Given the description of an element on the screen output the (x, y) to click on. 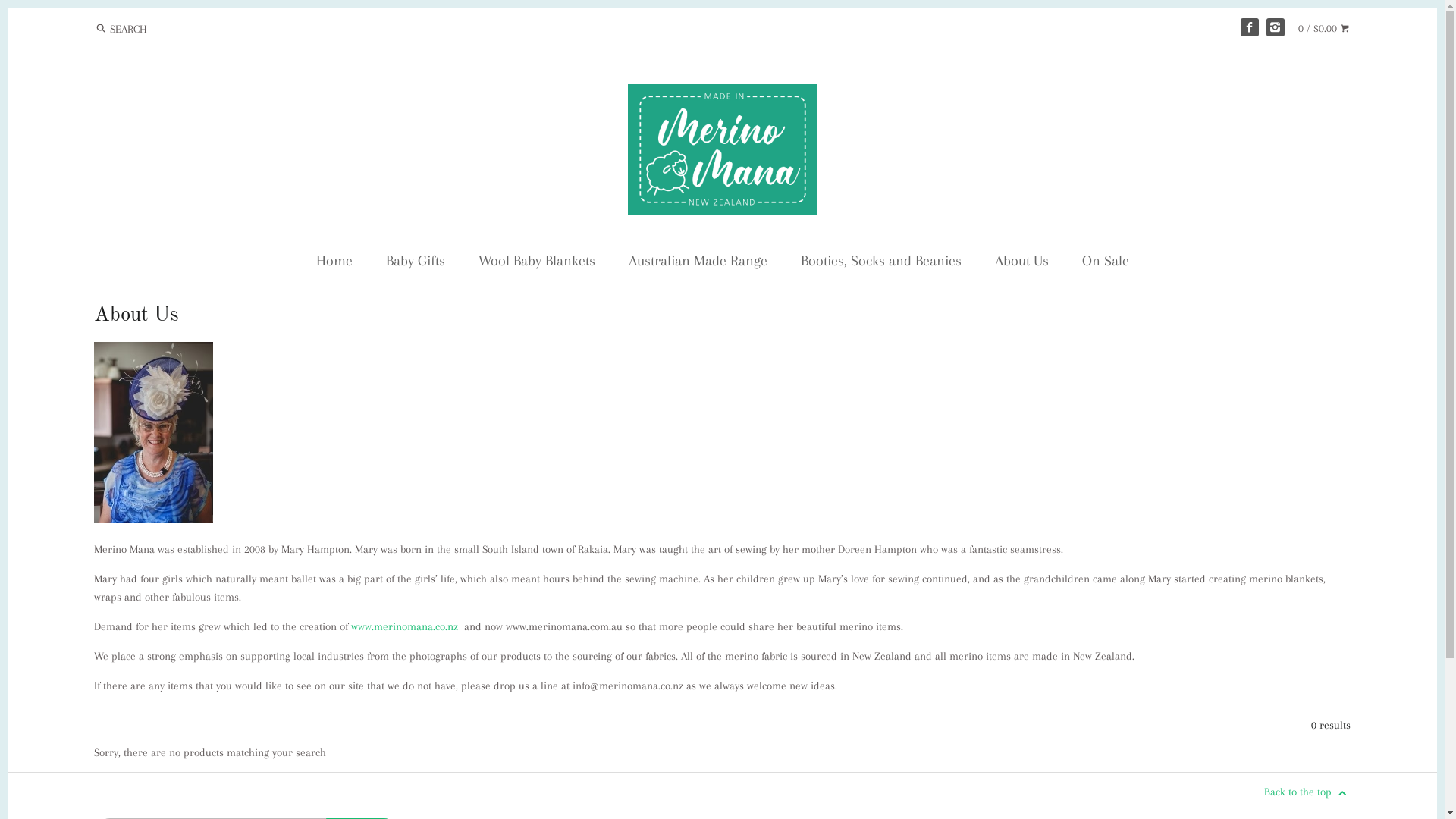
Back to the top Element type: text (1307, 792)
Home Element type: text (333, 263)
Australian Made Range Element type: text (696, 263)
About Us Element type: text (1021, 263)
Booties, Socks and Beanies Element type: text (880, 263)
Baby Gifts Element type: text (414, 263)
0 / $0.00 Element type: text (1324, 27)
On Sale Element type: text (1104, 263)
www.merinomana.co.nz Element type: text (404, 626)
Facebook Element type: hover (1249, 27)
Instagram Element type: hover (1275, 27)
Wool Baby Blankets Element type: text (535, 263)
